Given the description of an element on the screen output the (x, y) to click on. 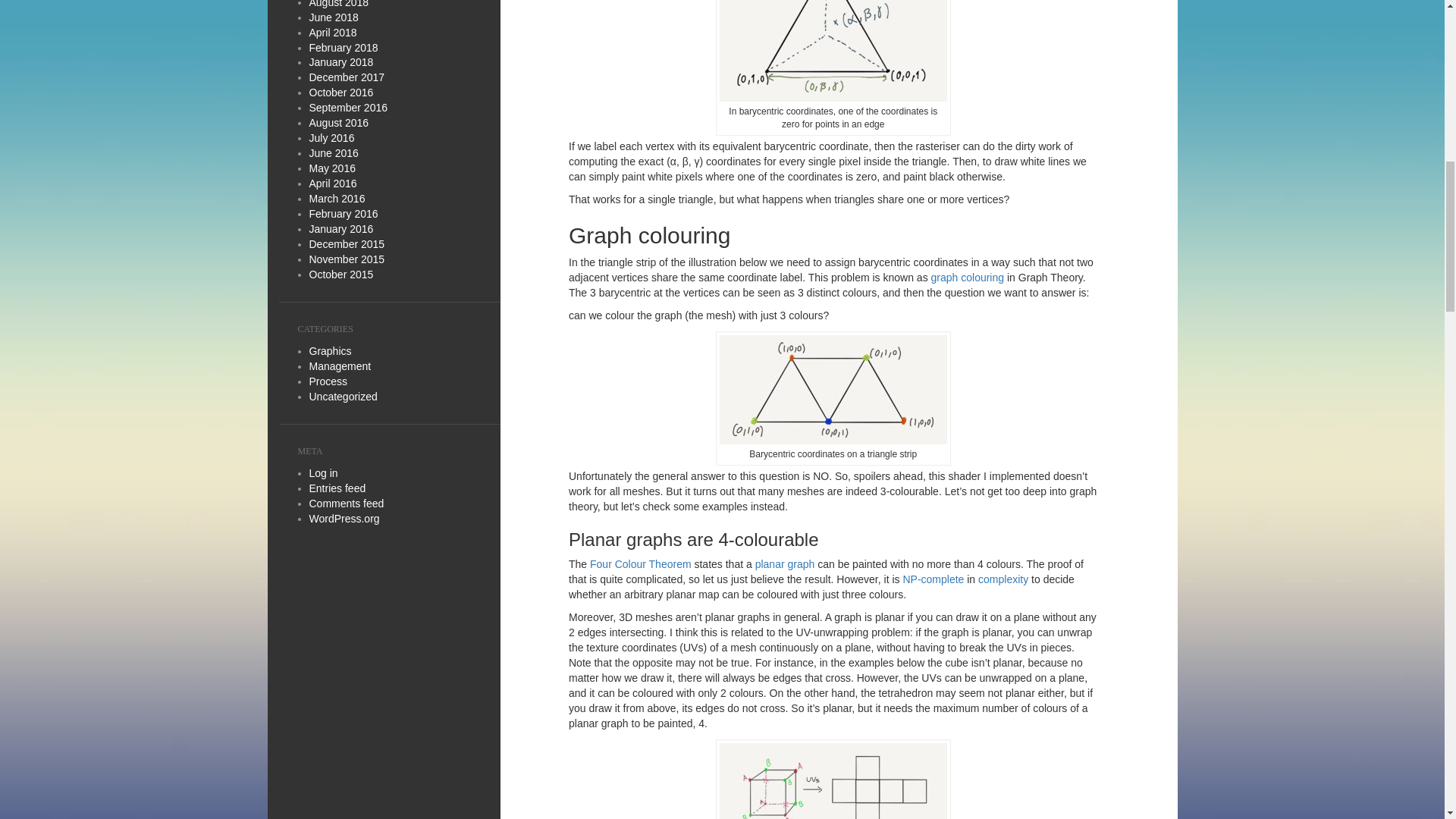
December 2015 (346, 244)
September 2016 (348, 107)
December 2017 (346, 77)
January 2018 (341, 61)
January 2016 (341, 228)
Computational complexity theory (1002, 579)
July 2016 (331, 137)
April 2016 (332, 183)
May 2016 (331, 168)
NP-complete (932, 579)
August 2018 (338, 4)
February 2016 (343, 214)
March 2016 (336, 198)
June 2018 (333, 17)
June 2016 (333, 152)
